Given the description of an element on the screen output the (x, y) to click on. 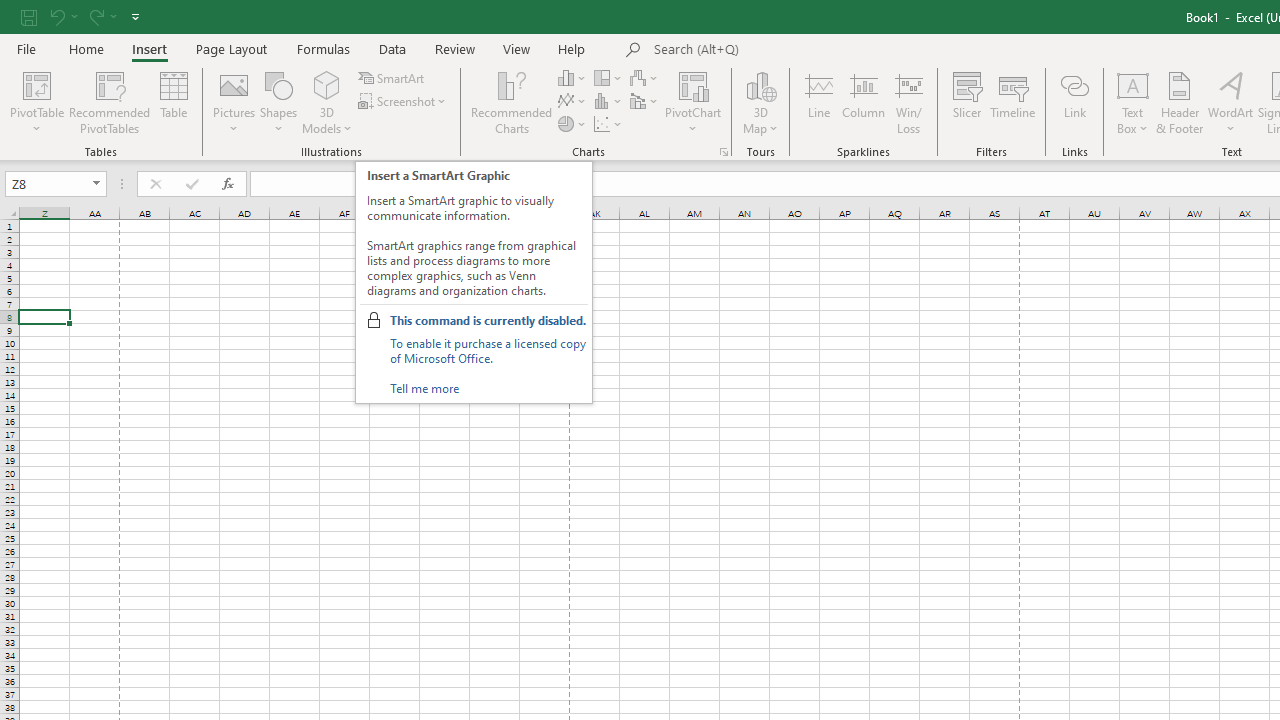
Save (29, 15)
Insert Pie or Doughnut Chart (573, 124)
Name Box (46, 183)
Undo (56, 15)
3D Models (326, 84)
Shapes (278, 102)
Line (818, 102)
Insert Line or Area Chart (573, 101)
Slicer... (966, 102)
Redo (95, 15)
Table (173, 102)
Column (863, 102)
Microsoft search (792, 49)
3D Models (326, 102)
